Given the description of an element on the screen output the (x, y) to click on. 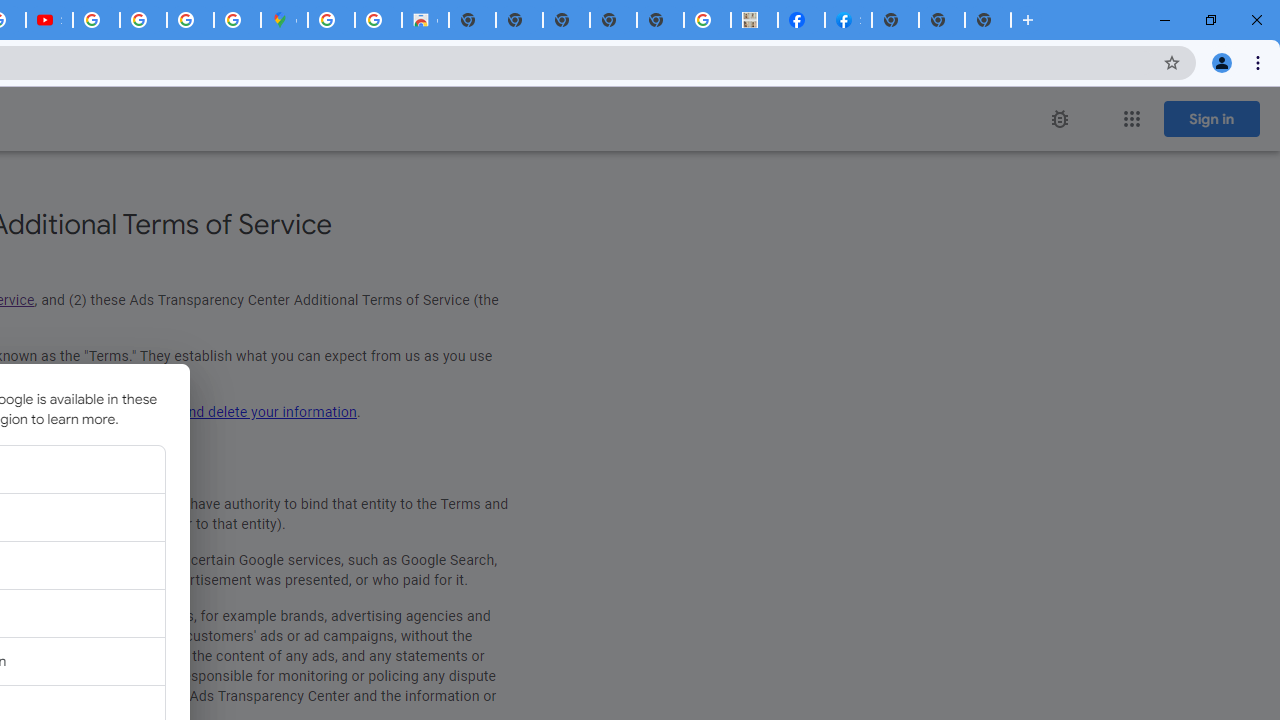
MILEY CYRUS. (754, 20)
Subscriptions - YouTube (48, 20)
To get missing image descriptions, open the context menu. (1059, 119)
Sign Up for Facebook (848, 20)
update, manage, export, and delete your information (190, 412)
How Chrome protects your passwords - Google Chrome Help (96, 20)
